Given the description of an element on the screen output the (x, y) to click on. 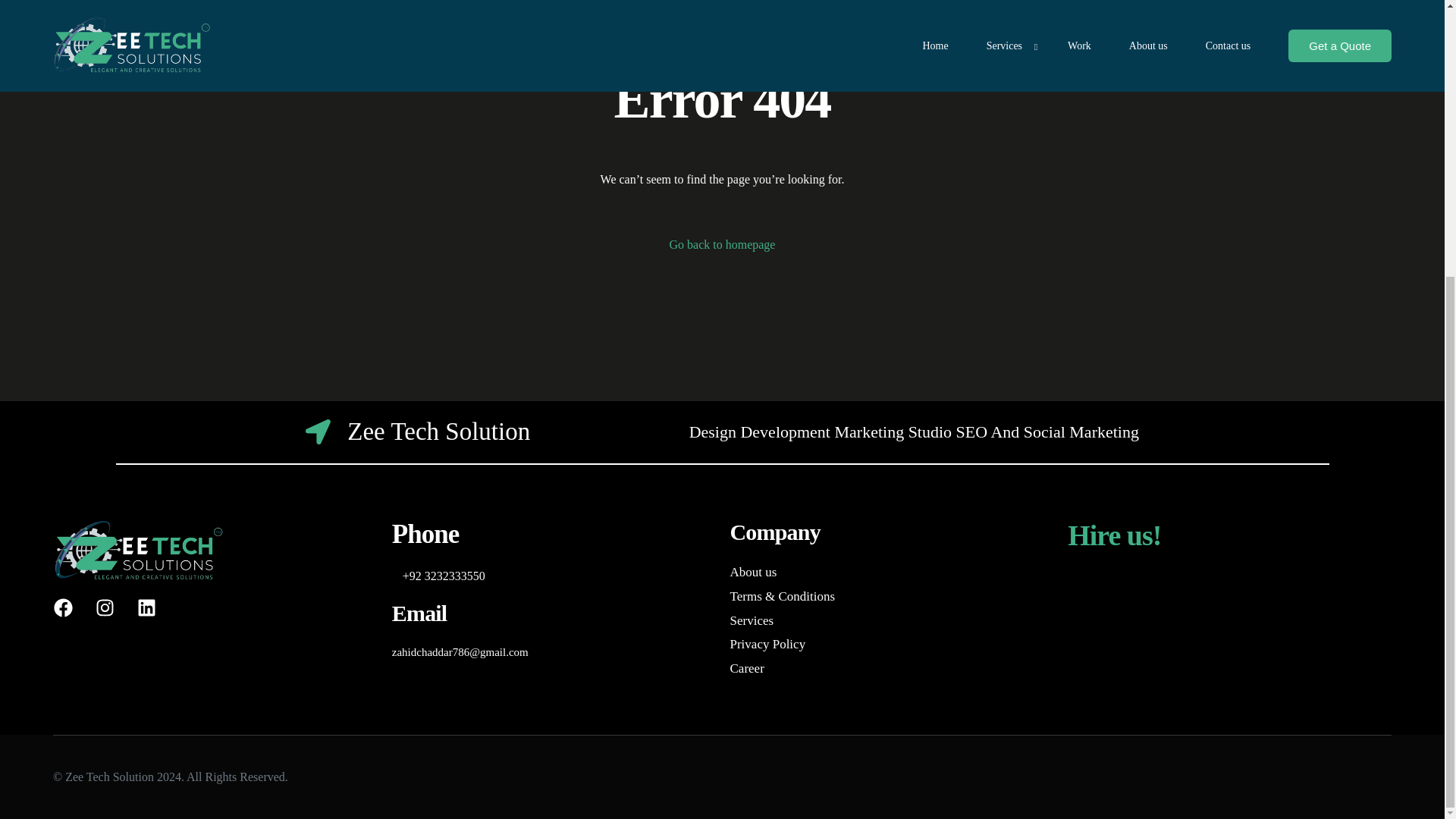
About us (890, 572)
Go back to homepage (722, 244)
Hire us! (1113, 535)
Privacy Policy (890, 644)
Career (890, 668)
Zee Tech Solution (417, 431)
Design Development Marketing Studio SEO And Social Marketing (913, 431)
Services (890, 621)
